Given the description of an element on the screen output the (x, y) to click on. 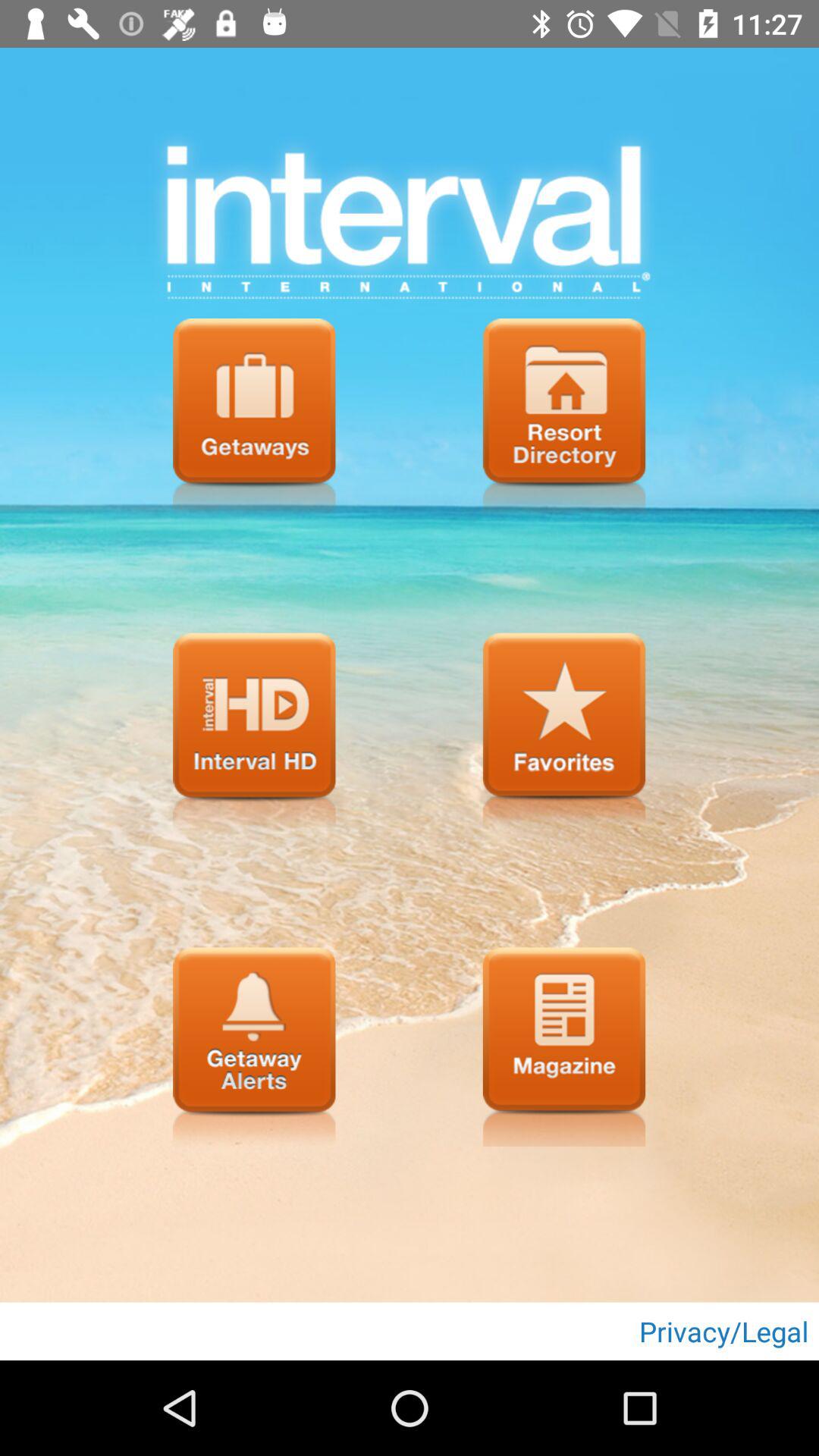
hd button (253, 732)
